Given the description of an element on the screen output the (x, y) to click on. 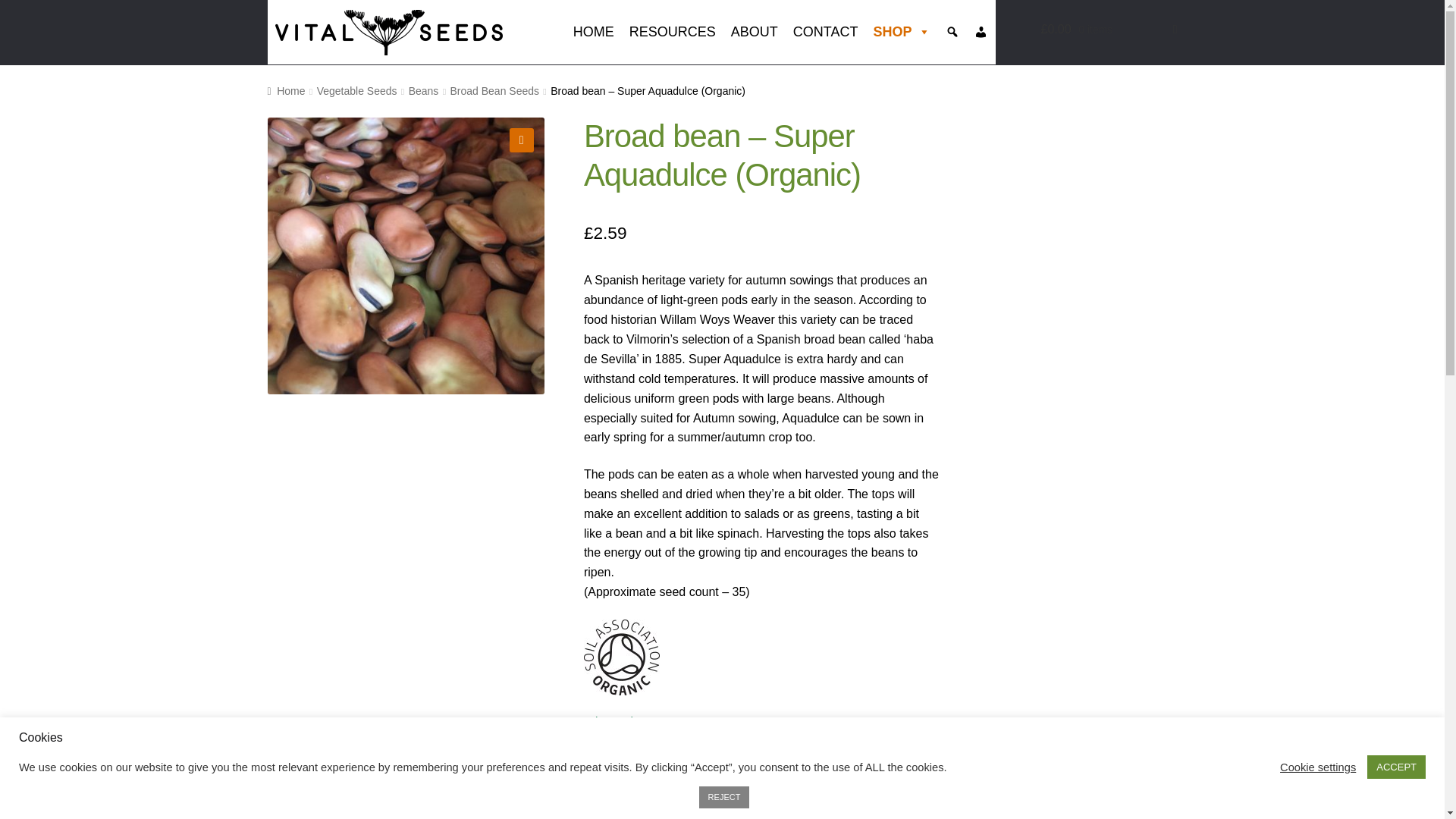
CONTACT (826, 32)
1 (608, 778)
View your shopping basket (1108, 29)
ABOUT (754, 32)
RESOURCES (672, 32)
SHOP (900, 32)
Super Aquadulce Broad bean (404, 255)
